Given the description of an element on the screen output the (x, y) to click on. 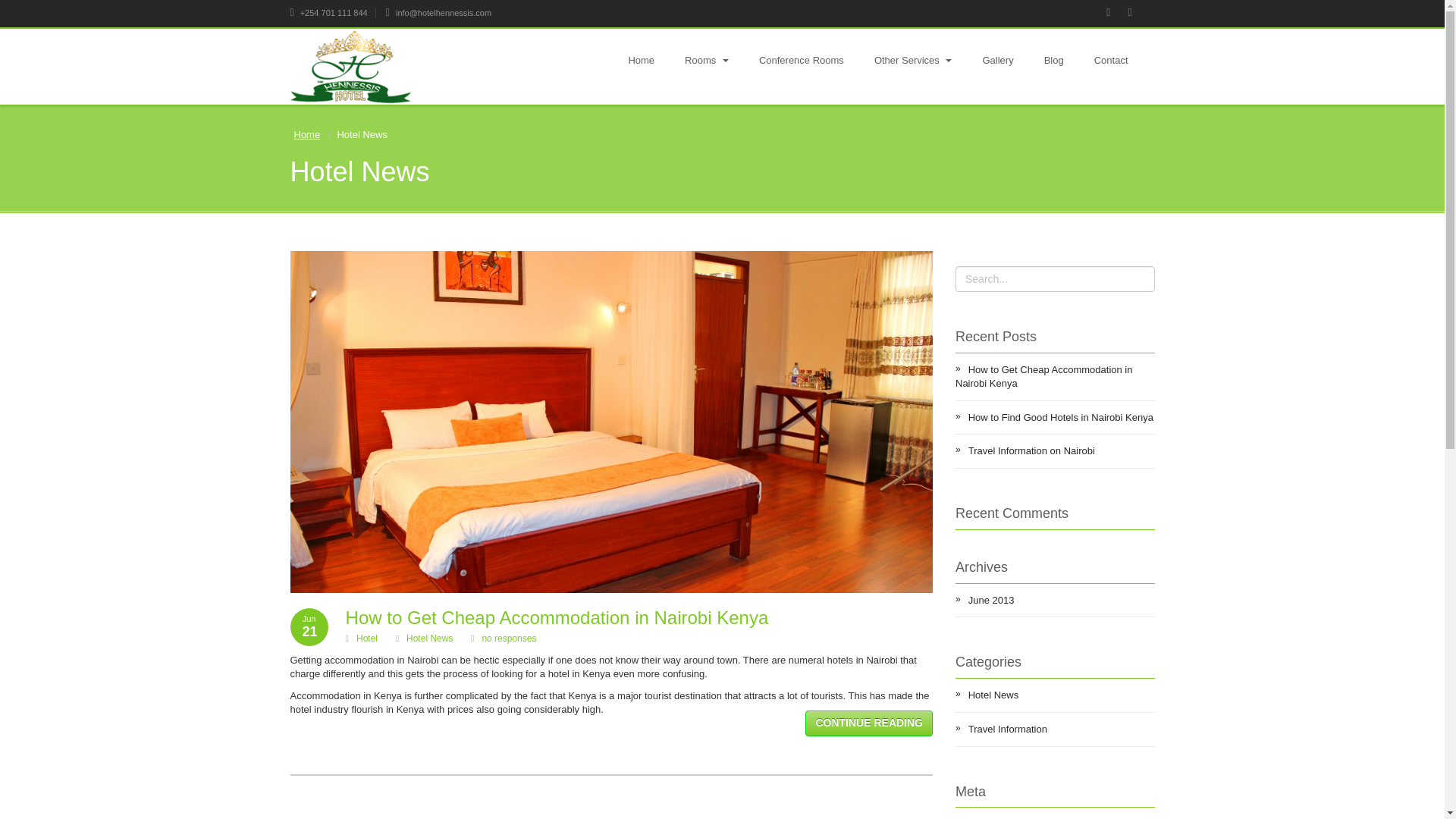
Home (306, 134)
How to Find Good Hotels in Nairobi Kenya (1054, 417)
Other Services (913, 60)
How to Get Cheap Accommodation in Nairobi Kenya (557, 617)
Travel Information (1054, 729)
Log in (1054, 813)
Hotel News (1054, 694)
How to Get Cheap Accommodation in Nairobi Kenya (1054, 376)
CONTINUE READING (869, 719)
Hotel (366, 638)
